Given the description of an element on the screen output the (x, y) to click on. 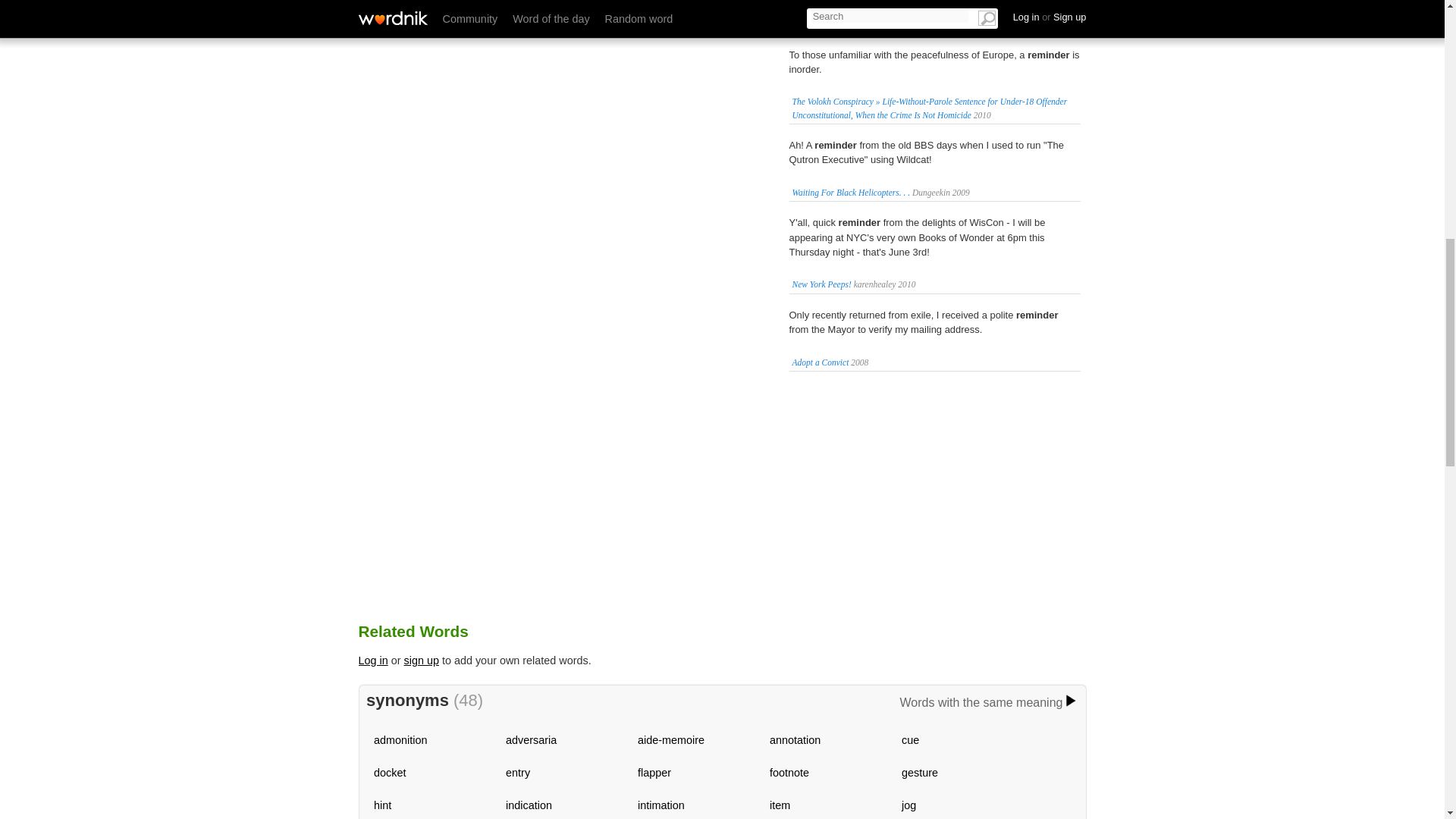
aide-memoire (670, 739)
admonition (400, 739)
Waiting For Black Helicopters. . . (851, 192)
cue (909, 739)
Log in (372, 660)
annotation (795, 739)
Adopt a Convict (820, 361)
entry (517, 772)
New York Peeps! (821, 284)
sign up (421, 660)
